Given the description of an element on the screen output the (x, y) to click on. 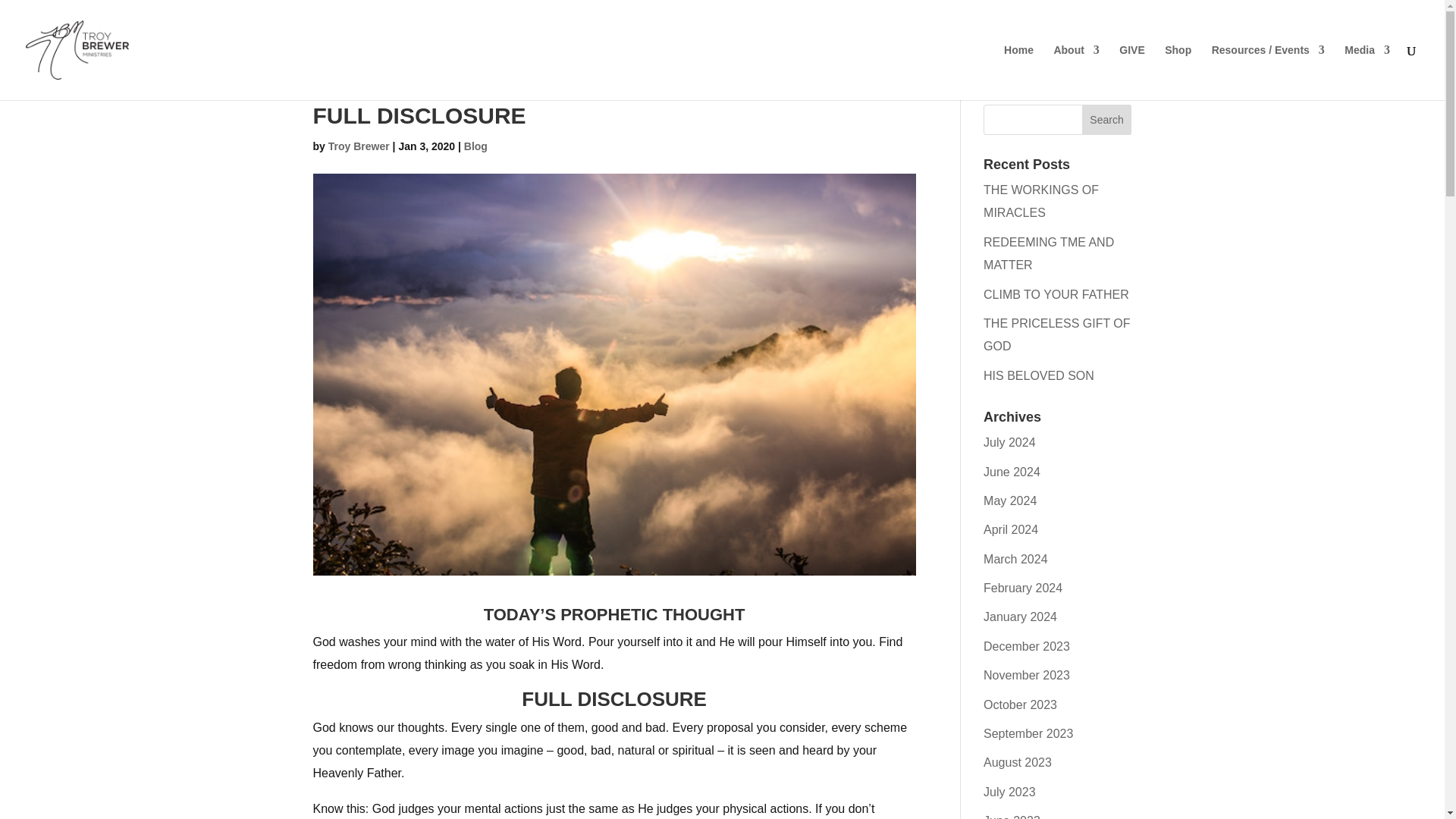
THE PRICELESS GIFT OF GOD (1057, 334)
HIS BELOVED SON (1039, 375)
May 2024 (1010, 500)
June 2024 (1012, 472)
April 2024 (1011, 529)
THE WORKINGS OF MIRACLES (1041, 201)
Search (1106, 119)
February 2024 (1023, 587)
Search (1106, 119)
July 2024 (1009, 441)
Troy Brewer (359, 146)
REDEEMING TME AND MATTER (1048, 253)
CLIMB TO YOUR FATHER (1056, 294)
Posts by Troy Brewer (359, 146)
March 2024 (1016, 558)
